Given the description of an element on the screen output the (x, y) to click on. 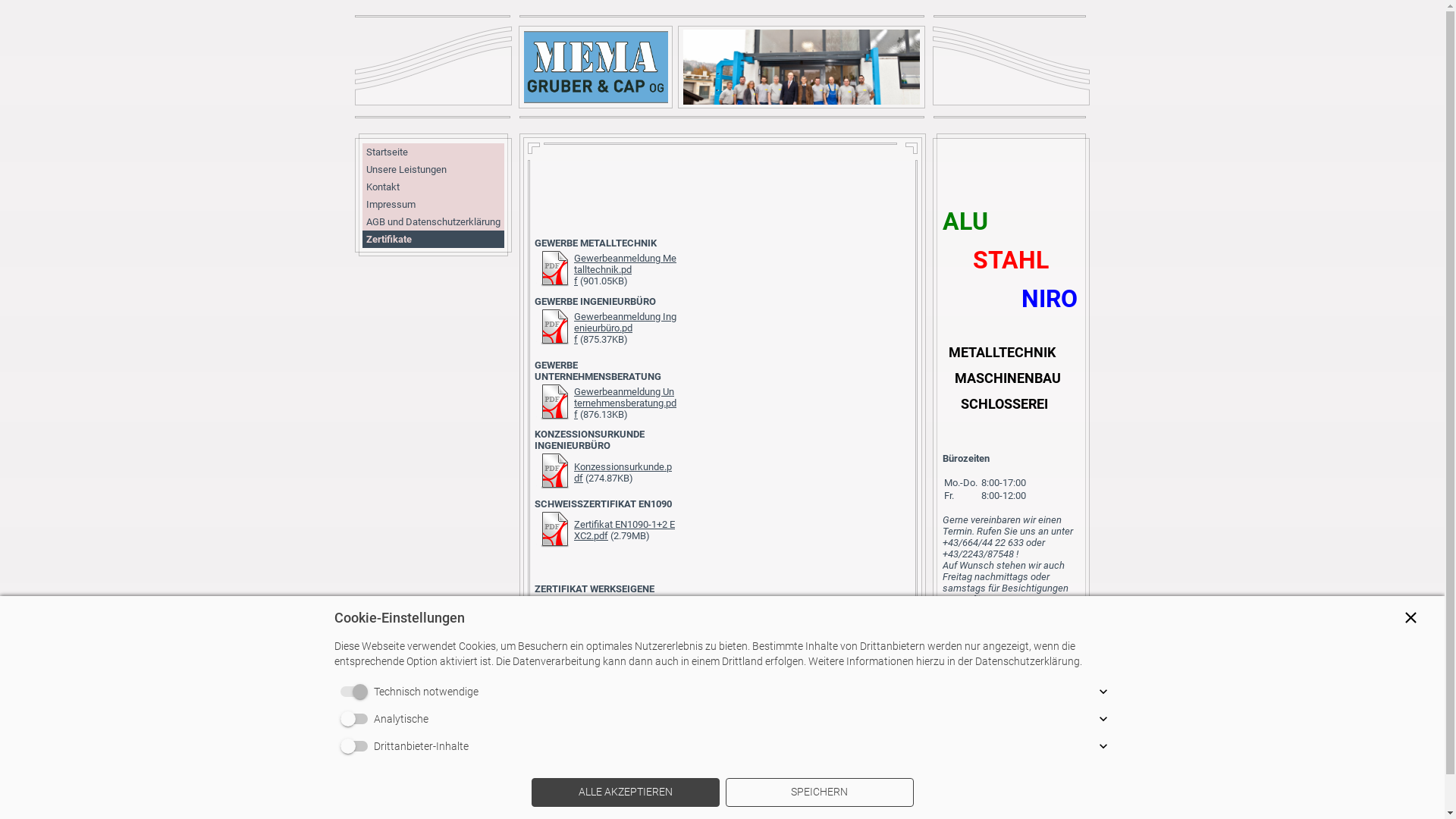
Impressum Element type: text (433, 204)
Startseite Element type: text (433, 151)
Gewerbeanmeldung Metalltechnik.pdf Element type: text (625, 269)
Unsere Leistungen Element type: text (433, 169)
Konzessionsurkunde.pdf Element type: text (622, 472)
SPEICHERN Element type: text (818, 792)
Zertifikat EN1090-1+2 EXC2.pdf Element type: text (624, 529)
Zertifikate Element type: text (433, 238)
Kontakt Element type: text (433, 186)
Gewerbeanmeldung Unternehmensberatung.pdf Element type: text (625, 402)
ALLE AKZEPTIEREN Element type: text (624, 792)
